Given the description of an element on the screen output the (x, y) to click on. 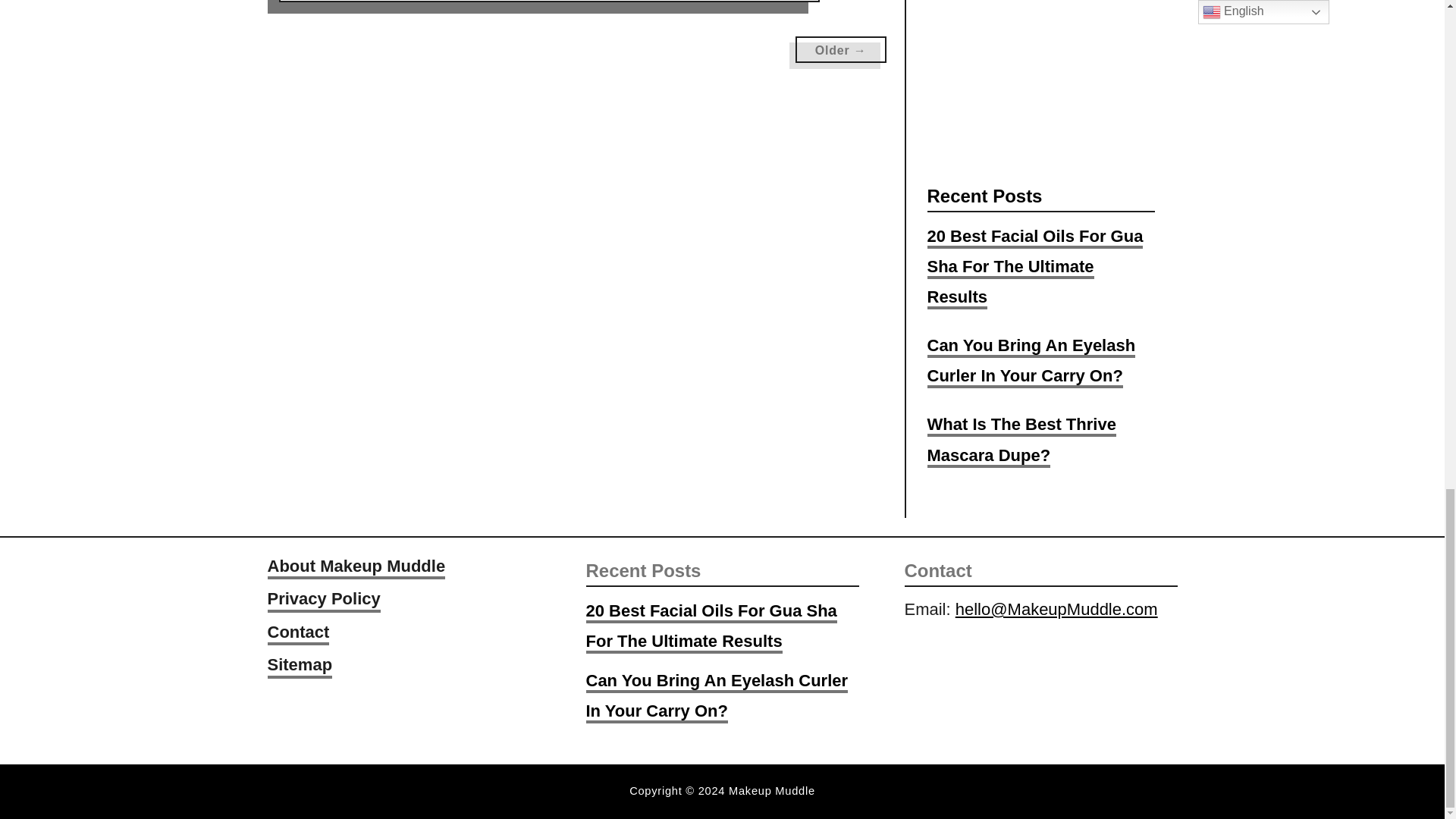
20 Best Facial Oils For Gua Sha For The Ultimate Results (710, 627)
Privacy Policy (323, 600)
What Is The Best Thrive Mascara Dupe? (1020, 440)
Can You Bring An Eyelash Curler In Your Carry On? (1030, 361)
Sitemap (298, 666)
About Makeup Muddle (355, 567)
Contact (297, 633)
20 Best Facial Oils For Gua Sha For The Ultimate Results (1034, 267)
Can You Bring An Eyelash Curler In Your Carry On? (716, 696)
